Given the description of an element on the screen output the (x, y) to click on. 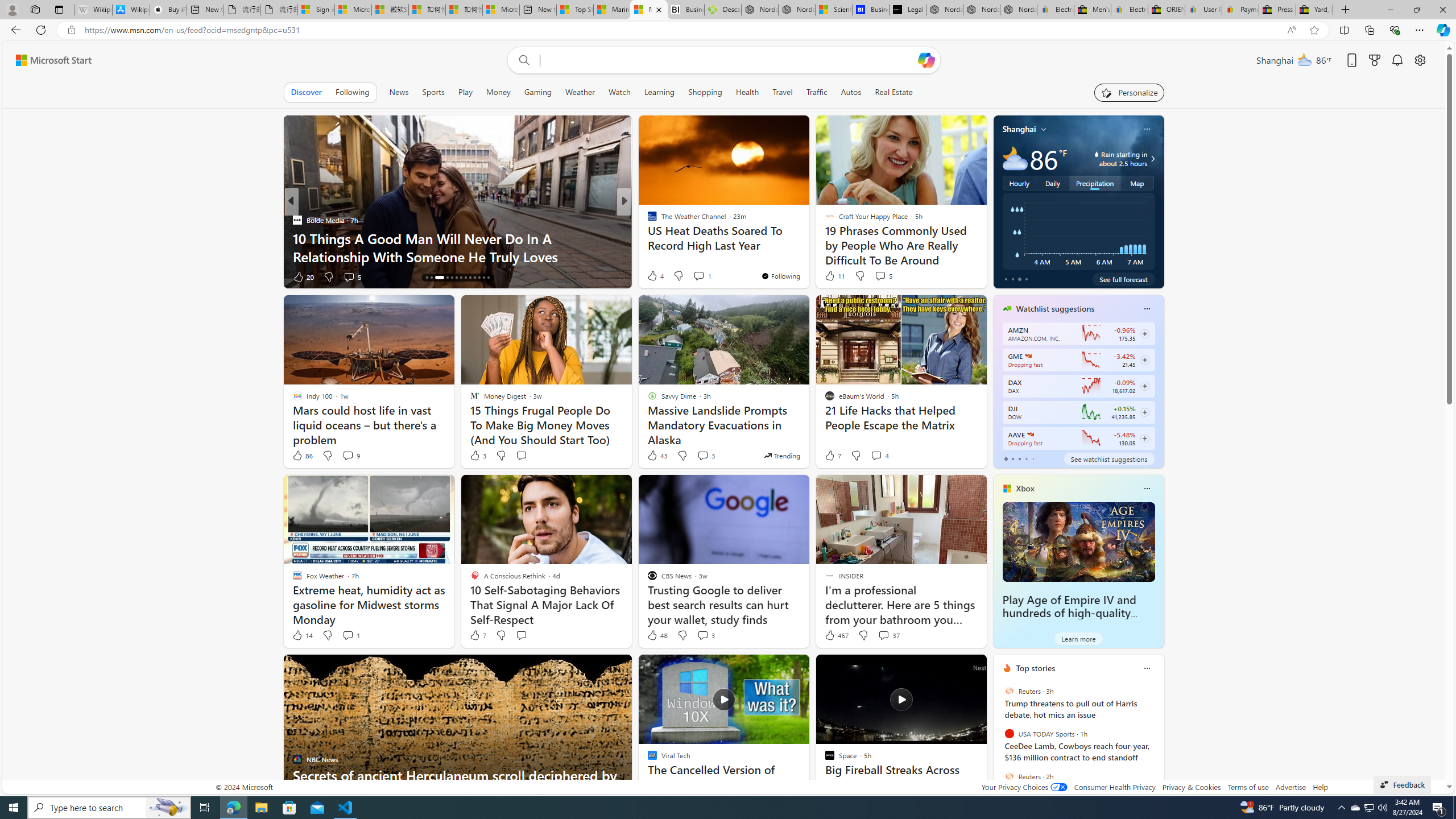
Web search (520, 60)
View comments 339 Comment (703, 276)
Class: weather-arrow-glyph (1152, 158)
Sports (432, 92)
AutomationID: tab-22 (470, 277)
tab-1 (1012, 458)
3 Like (477, 455)
Class: follow-button  m (1144, 438)
